Given the description of an element on the screen output the (x, y) to click on. 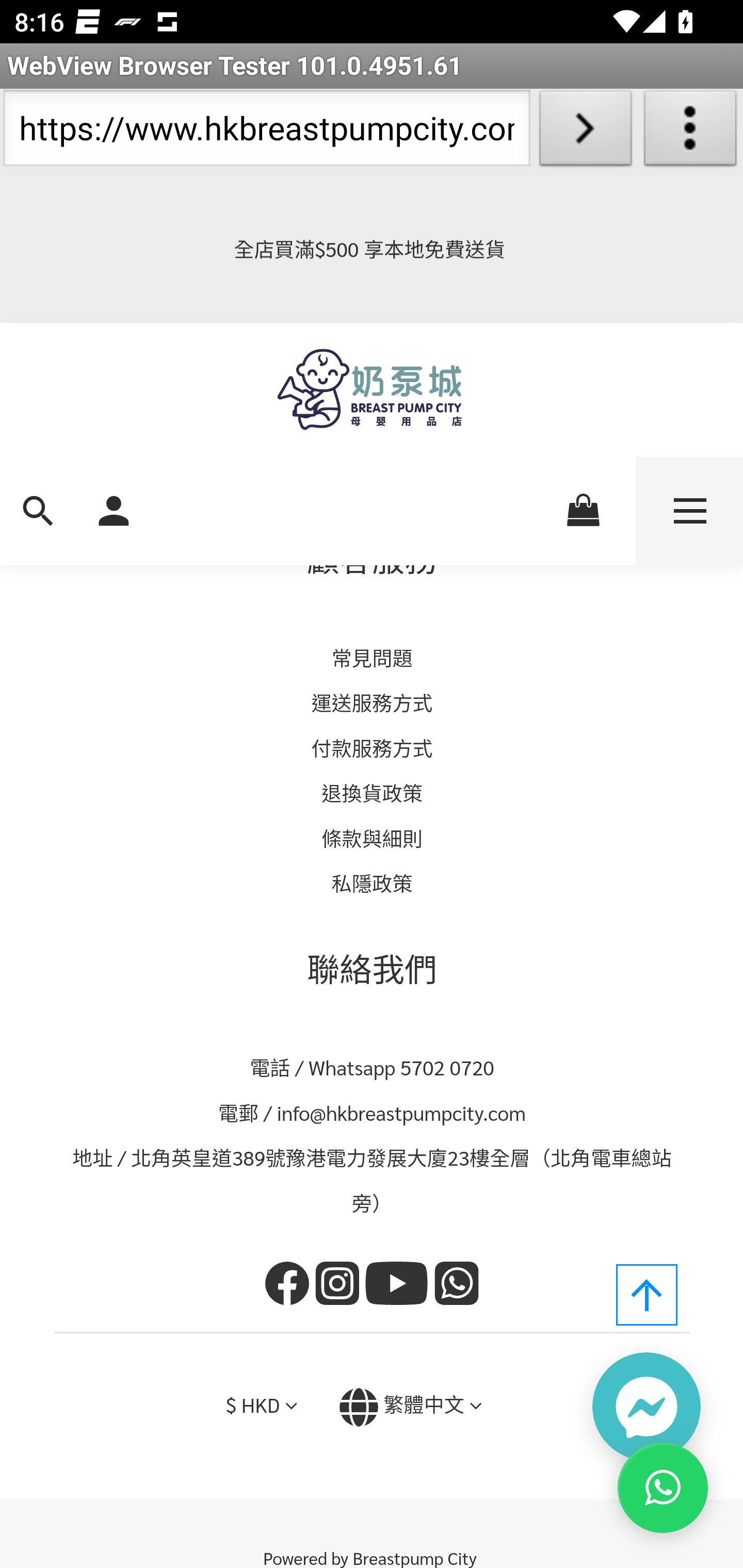
Load URL (585, 132)
About WebView (690, 132)
全店買滿$500 享本地免費送貨  (371, 249)
594x (371, 390)
sign_in (113, 508)
常見問題 (371, 656)
運送服務方式 (371, 702)
付款服務方式 (371, 747)
退換貨政策 (372, 793)
條款與細則 (372, 837)
私隱政策 (371, 883)
聯絡我們 (372, 967)
電郵 / info@hkbreastpumpcity.com (372, 1112)
地址 / 北角英皇道389號豫港電力發展大廈23樓全層（北角電車總站旁） (372, 1180)
hk (289, 1285)
hkbreastpumpcity (340, 1285)
UCOya9do7lj-4xbkW39OUUfQ (399, 1285)
send?phone=85257020720&text=hello (456, 1285)
$   HKD  (261, 1405)
繁體中文 (423, 1404)
 (475, 1405)
Powered by Breastpump City  (371, 1551)
